Given the description of an element on the screen output the (x, y) to click on. 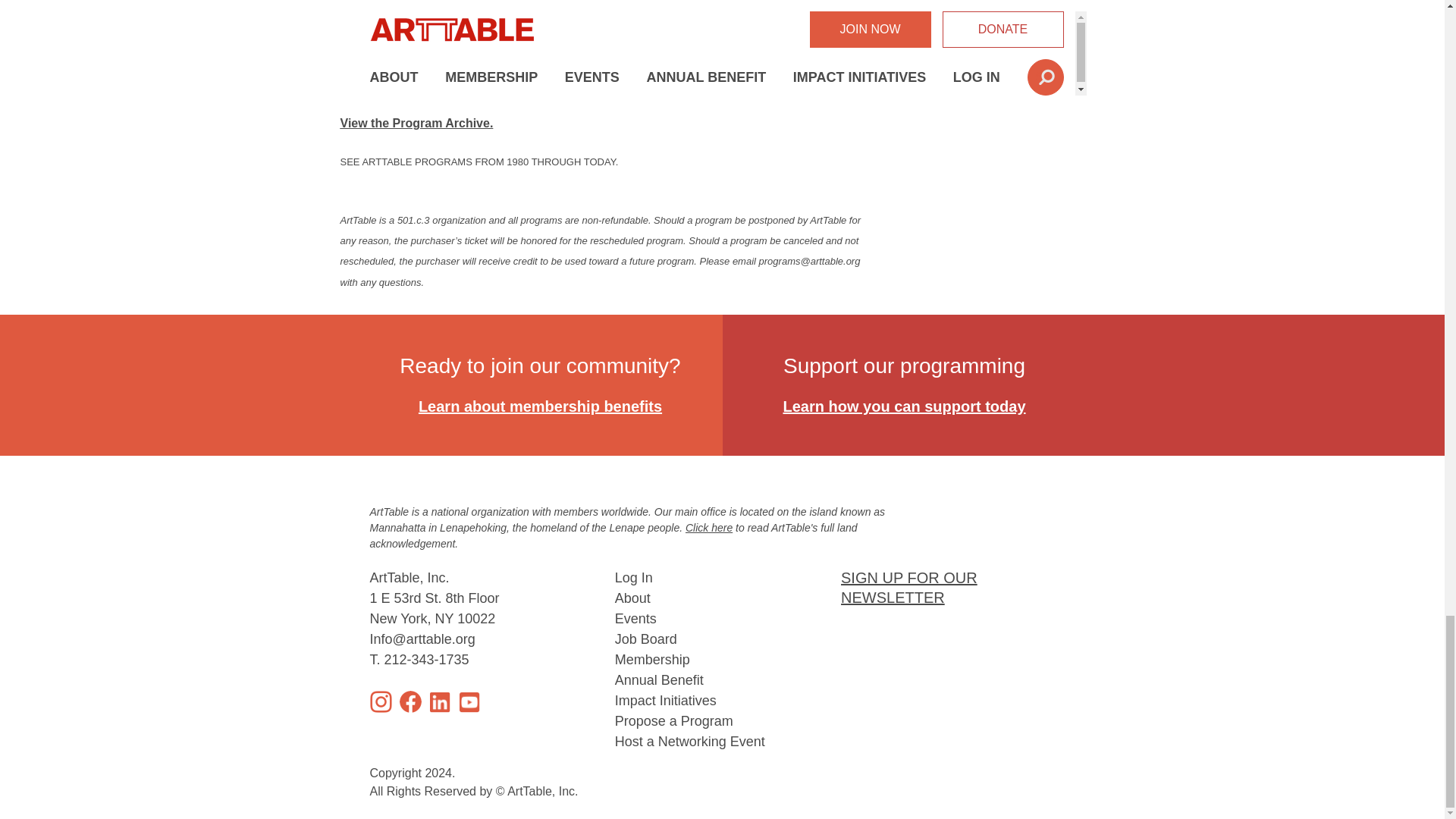
Learn how you can support today (904, 406)
CLICK HERE (368, 84)
Learn about membership benefits (540, 406)
CLICK HERE (368, 49)
View the Program Archive (414, 123)
Click here (708, 527)
Instagram (380, 701)
212-343-1735 (426, 659)
